Given the description of an element on the screen output the (x, y) to click on. 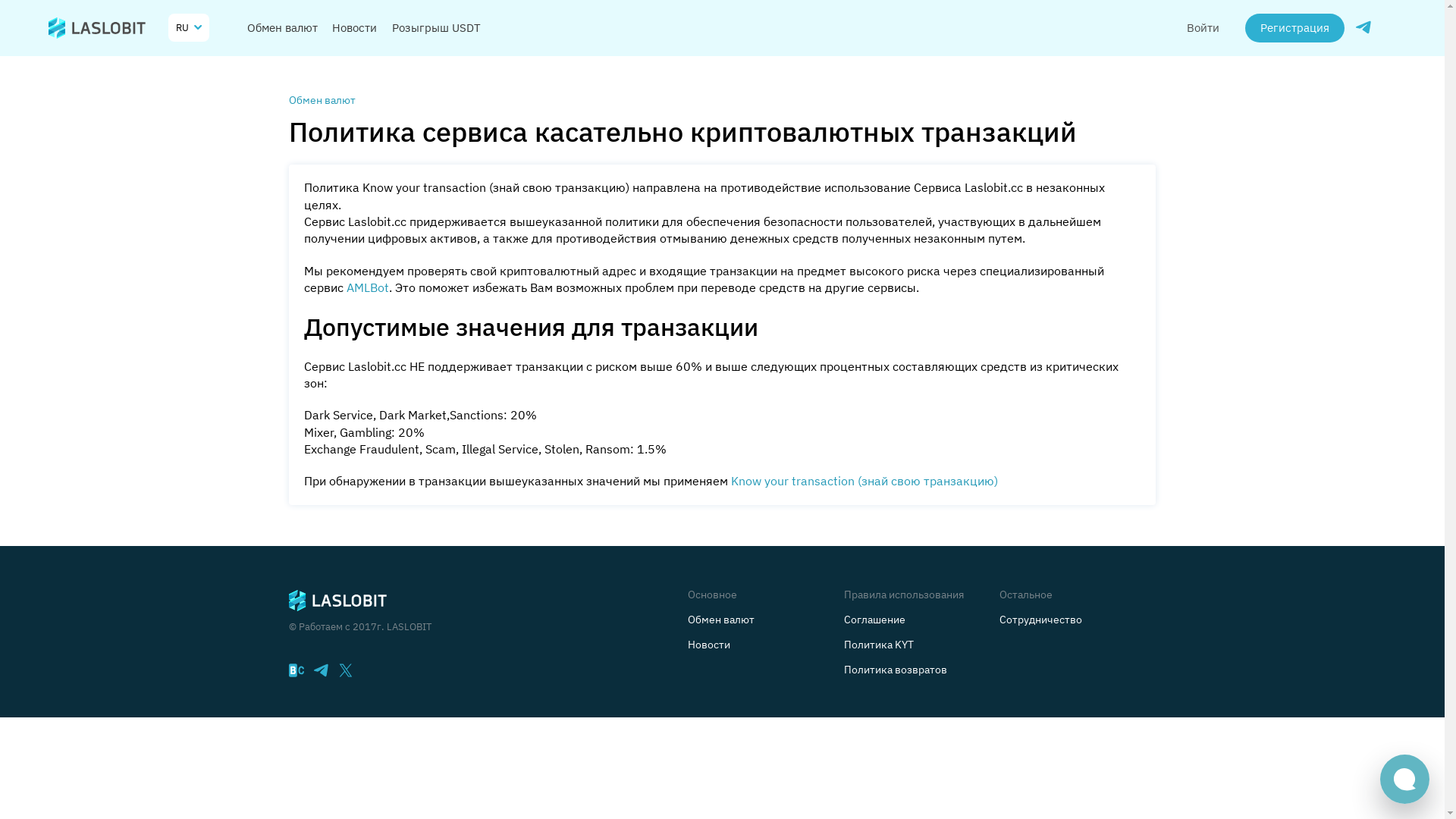
AMLBot Element type: text (370, 290)
